Given the description of an element on the screen output the (x, y) to click on. 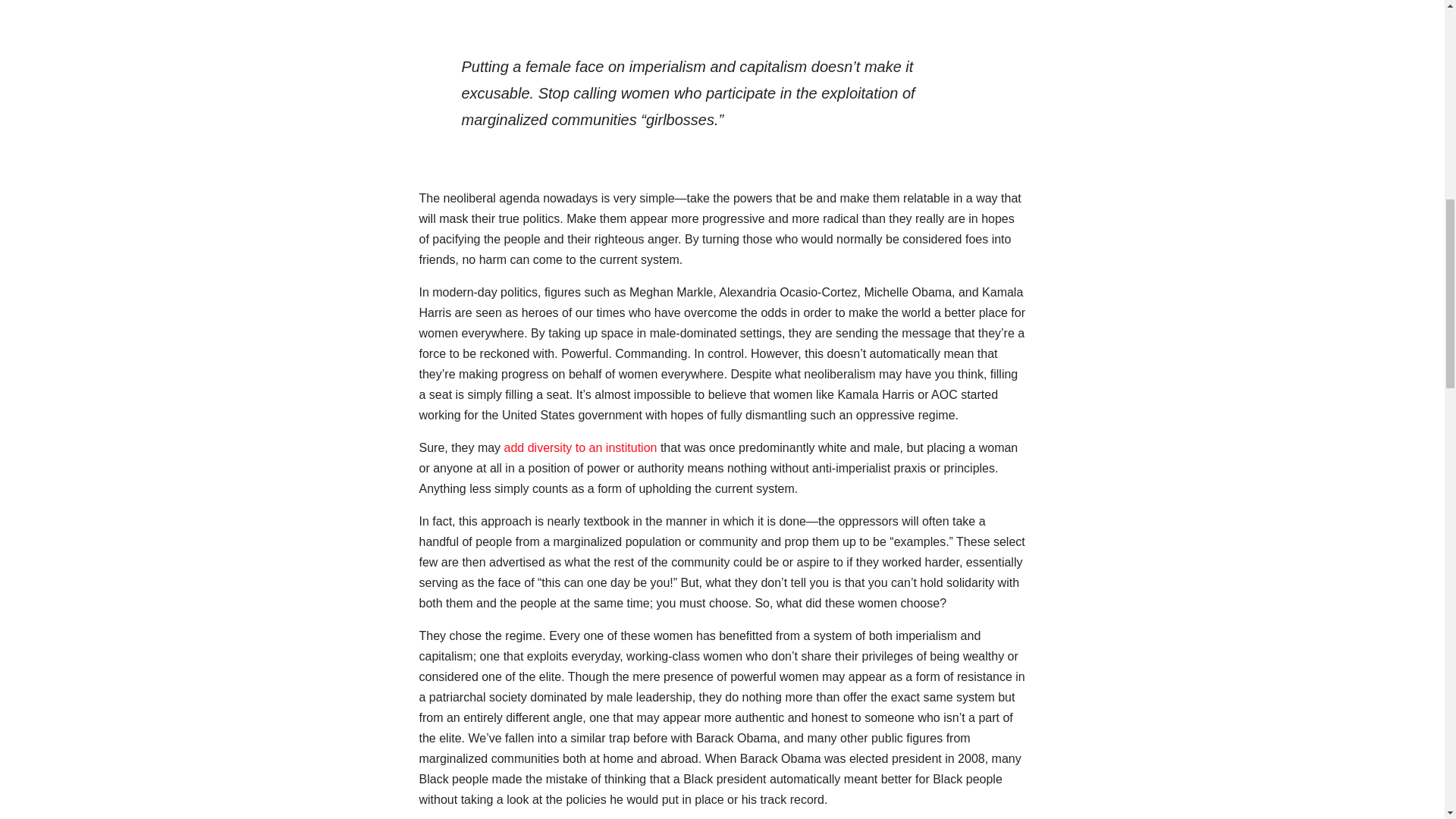
add diversity to an institution (580, 447)
